Given the description of an element on the screen output the (x, y) to click on. 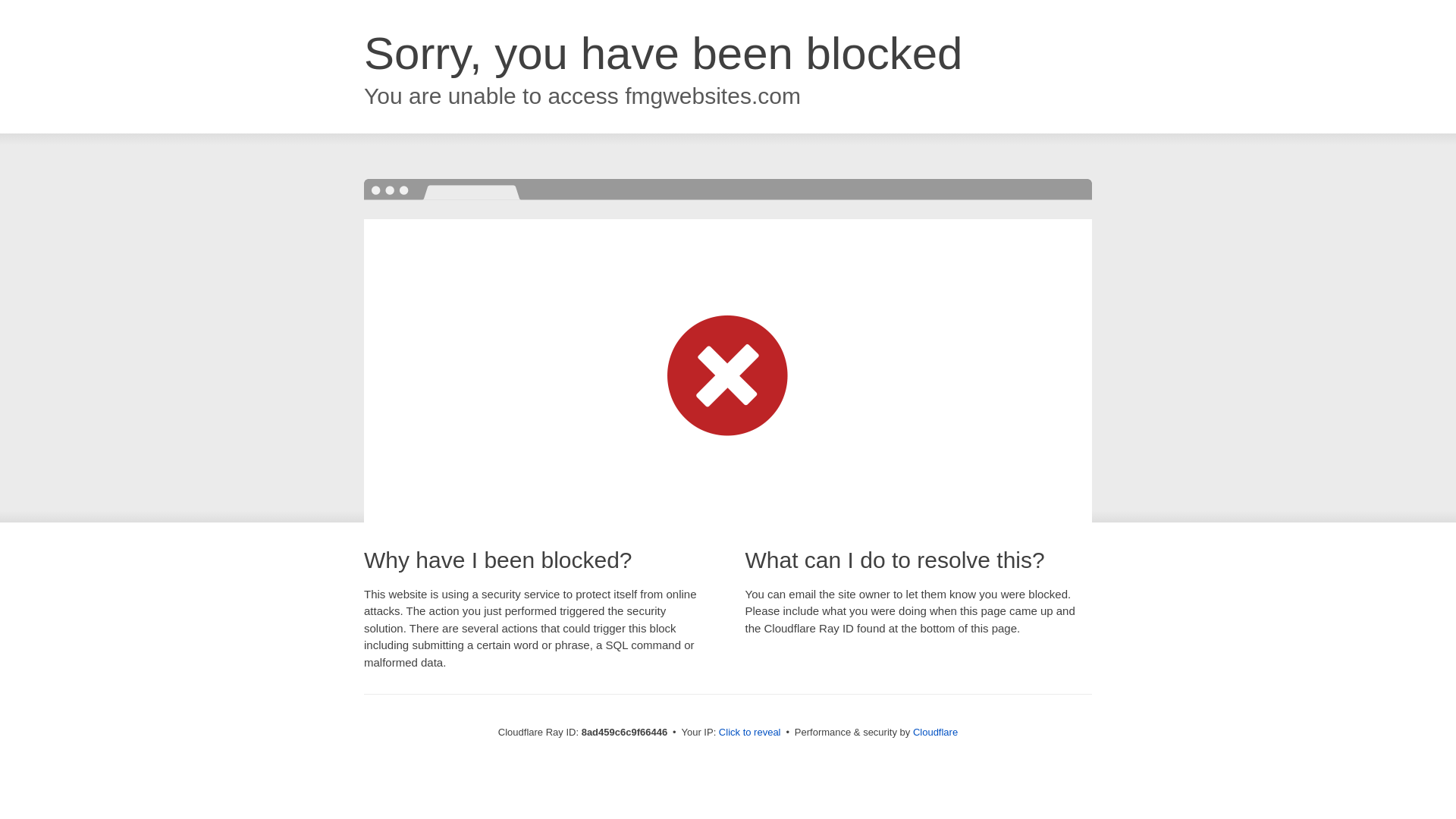
Click to reveal (749, 732)
Cloudflare (935, 731)
